Given the description of an element on the screen output the (x, y) to click on. 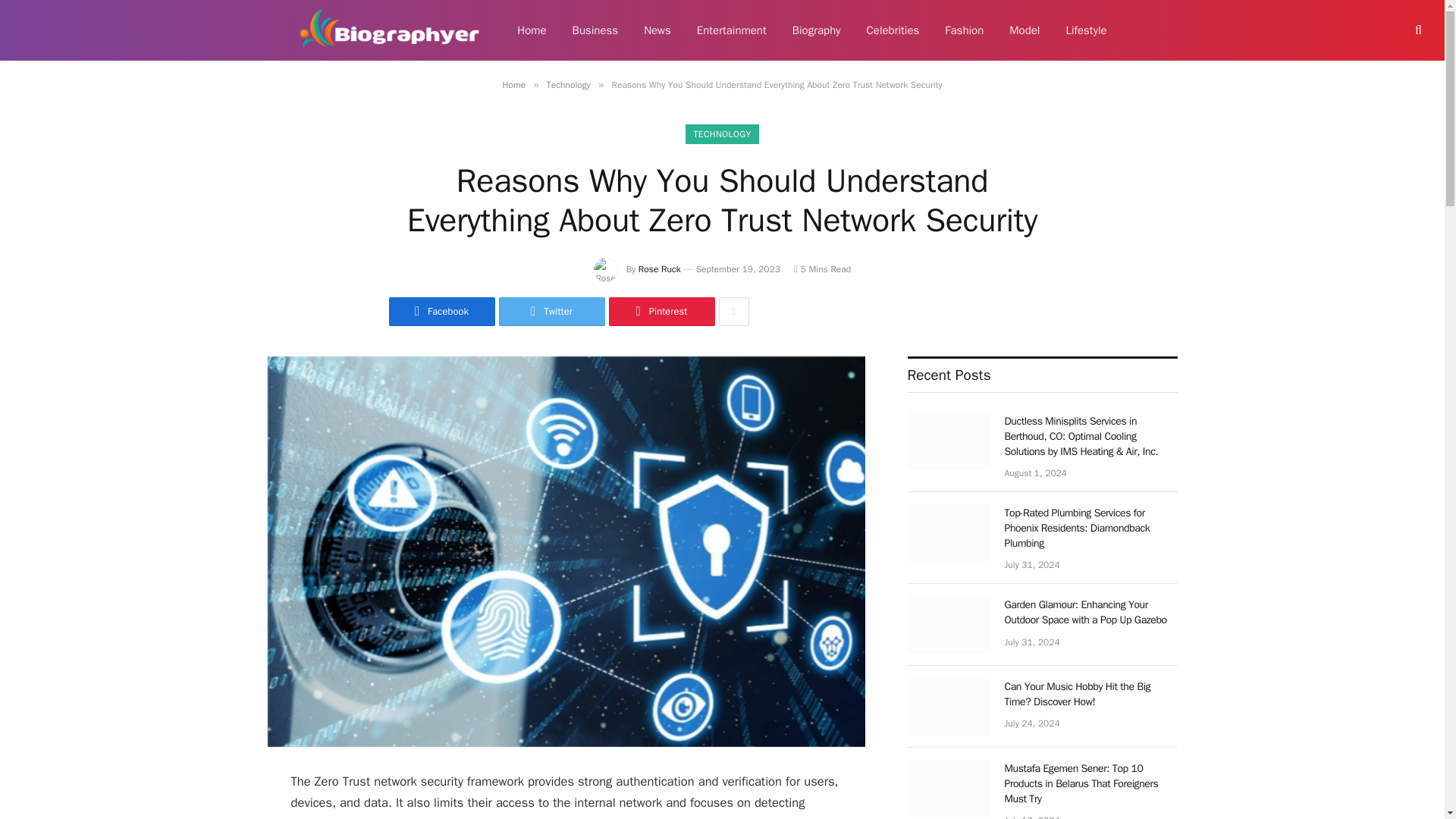
Entertainment (731, 30)
Facebook (441, 311)
Pinterest (661, 311)
Biography (815, 30)
Celebrities (893, 30)
Rose Ruck (660, 268)
Fashion (963, 30)
Show More Social Sharing (734, 311)
TECHNOLOGY (721, 134)
Home (531, 30)
Posts by Rose Ruck (660, 268)
Model (1023, 30)
Lifestyle (1085, 30)
Biographyer (389, 29)
Technology (569, 84)
